Given the description of an element on the screen output the (x, y) to click on. 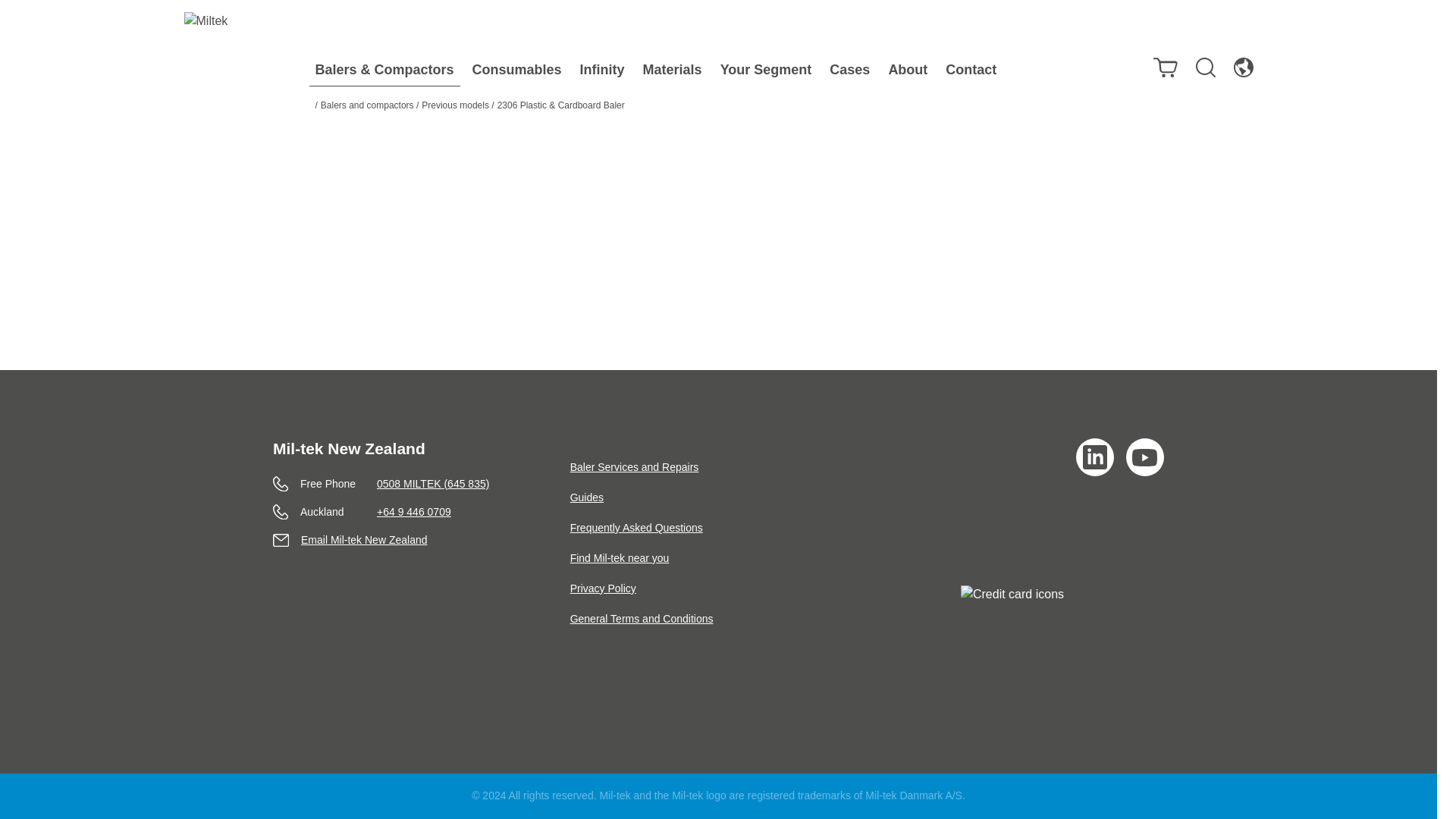
Guides (587, 497)
Baler Services and Repairs (634, 467)
Send an e-mail (421, 539)
Call (421, 512)
Call (421, 483)
